Given the description of an element on the screen output the (x, y) to click on. 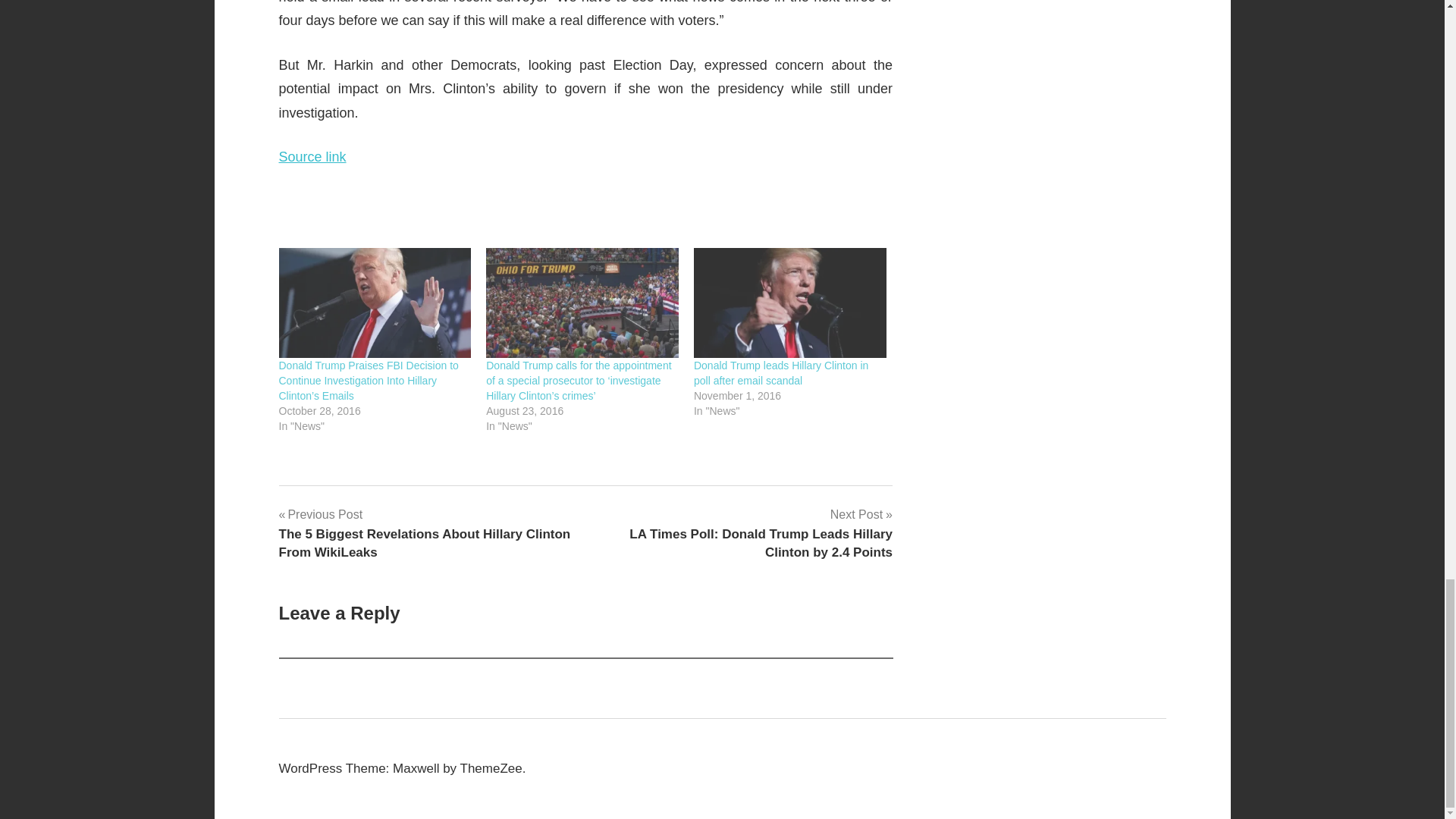
Source link (312, 156)
